Given the description of an element on the screen output the (x, y) to click on. 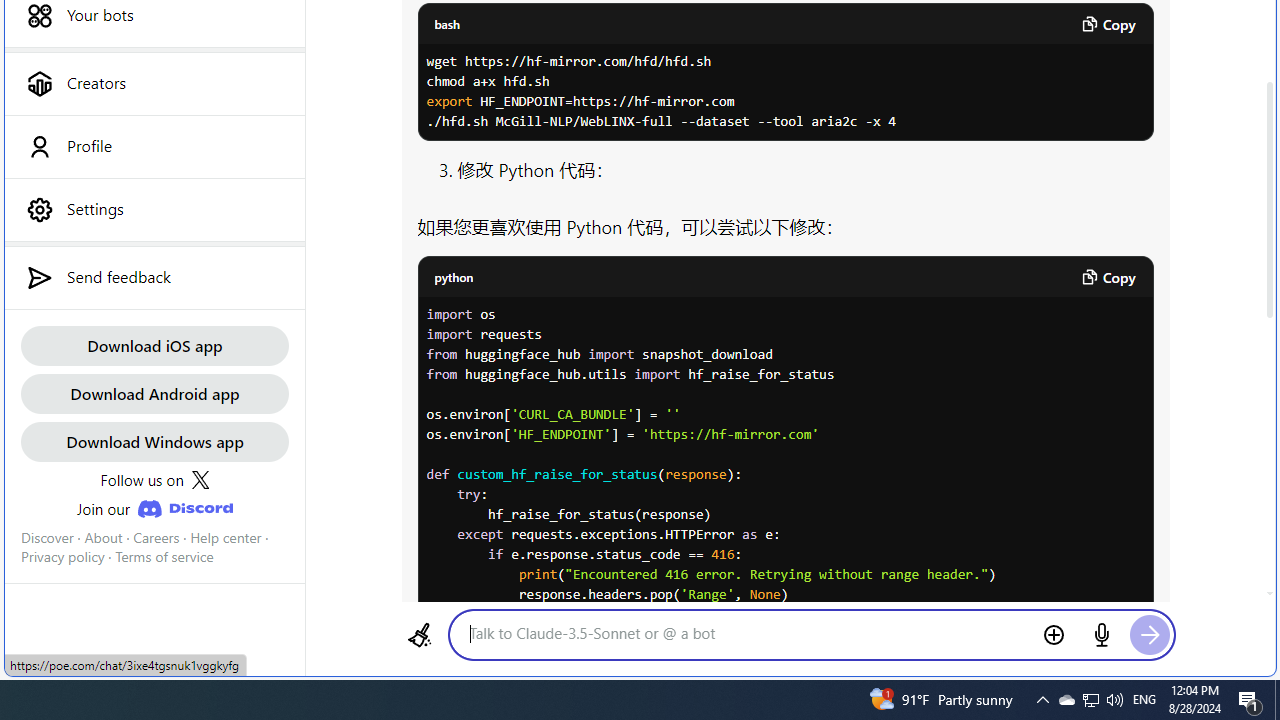
Download iOS app (154, 344)
Privacy policy (62, 557)
Careers (156, 537)
Help center (225, 537)
Settings (154, 209)
Discover (47, 537)
Class: JoinDiscordLink_discordIcon__Xw13A (184, 509)
Talk to Claude-3.5-Sonnet or @ a bot (747, 633)
Follow us on (154, 479)
Send feedback (154, 277)
Join our (154, 508)
